Given the description of an element on the screen output the (x, y) to click on. 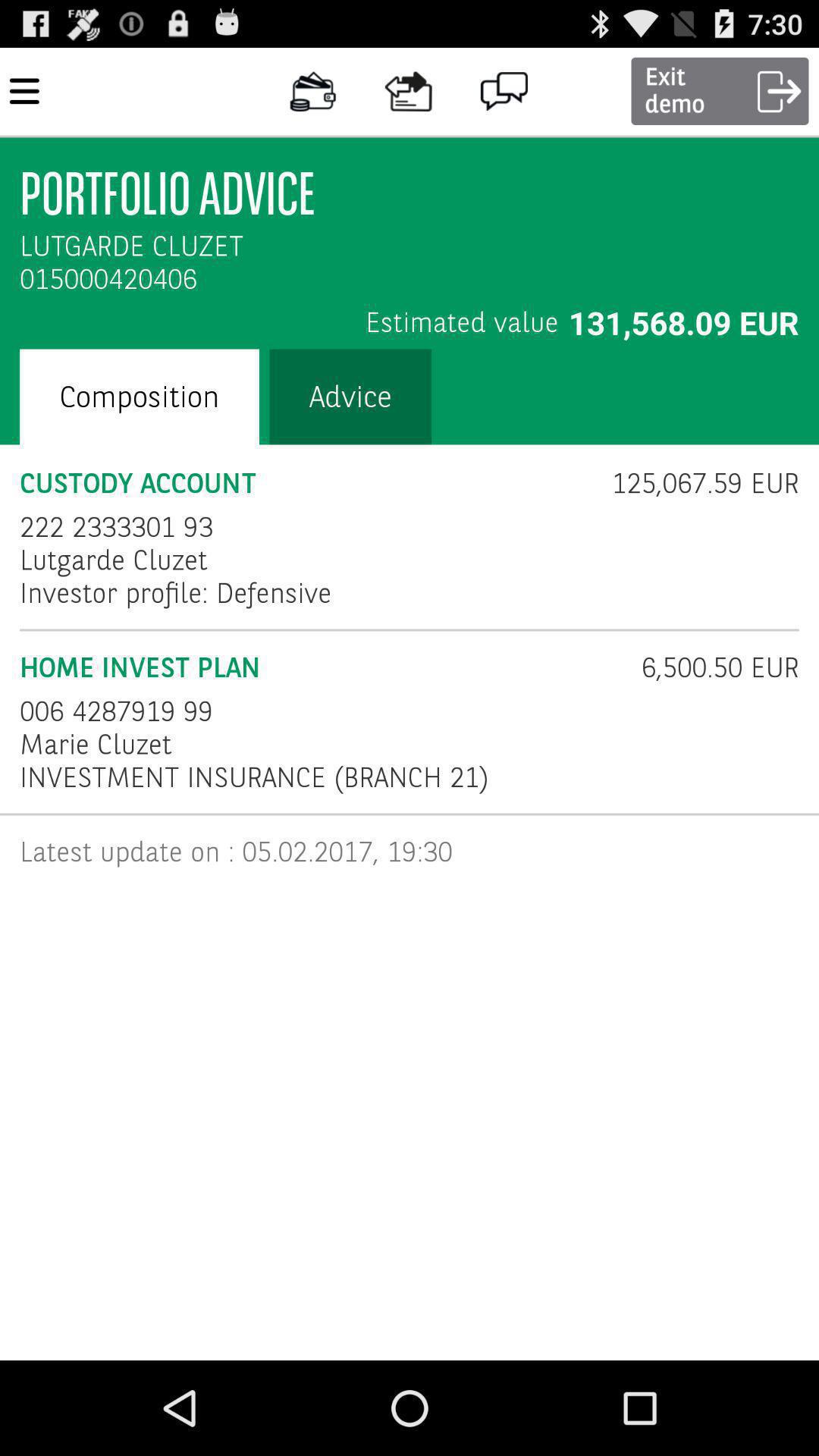
launch icon below composition (305, 483)
